Given the description of an element on the screen output the (x, y) to click on. 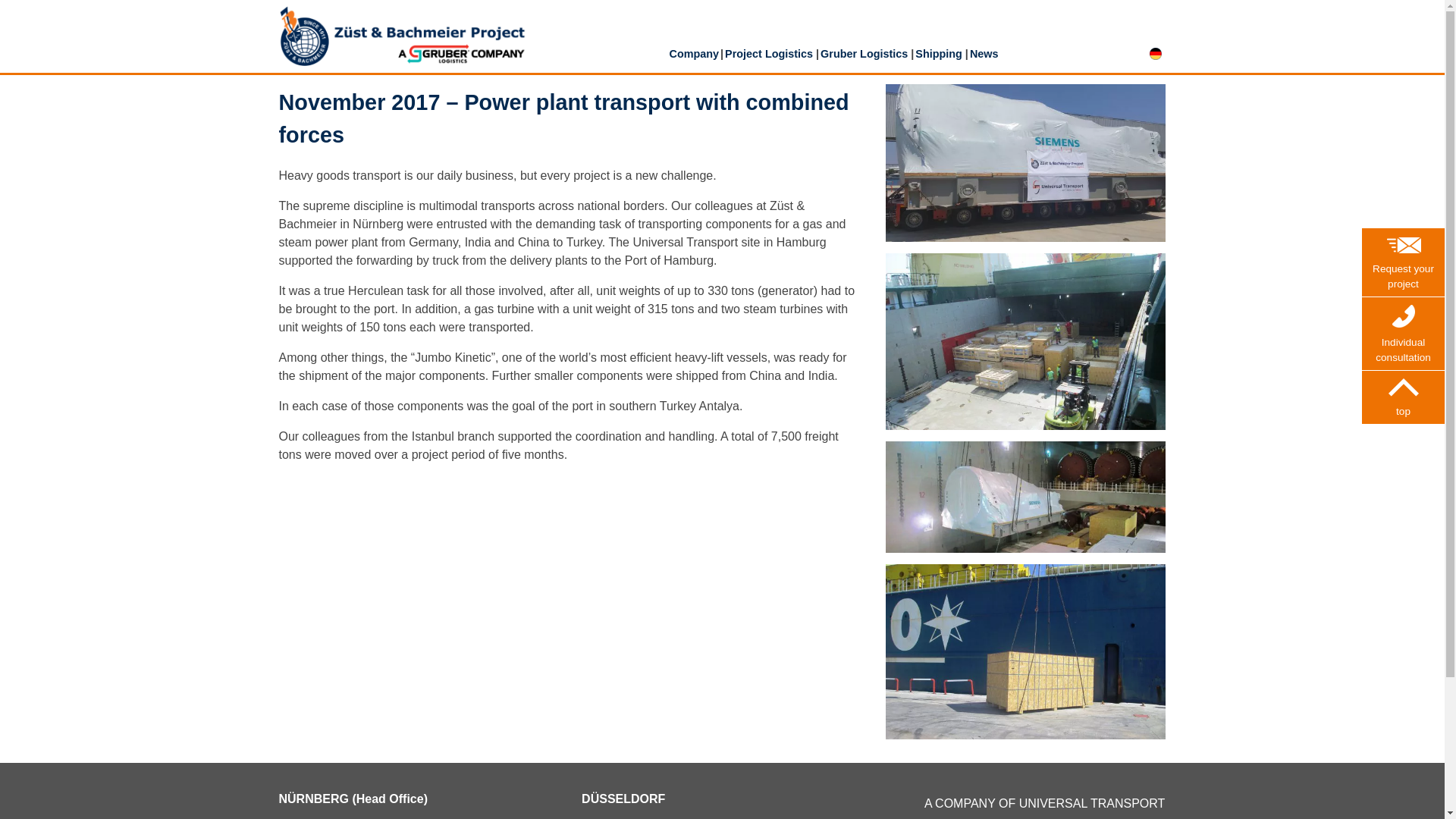
Deutsch (1155, 53)
Project Logistics (768, 55)
A COMPANY OF UNIVERSAL TRANSPORT (1044, 802)
Gruber Logistics (864, 53)
Company (693, 55)
Shipping (938, 53)
